Given the description of an element on the screen output the (x, y) to click on. 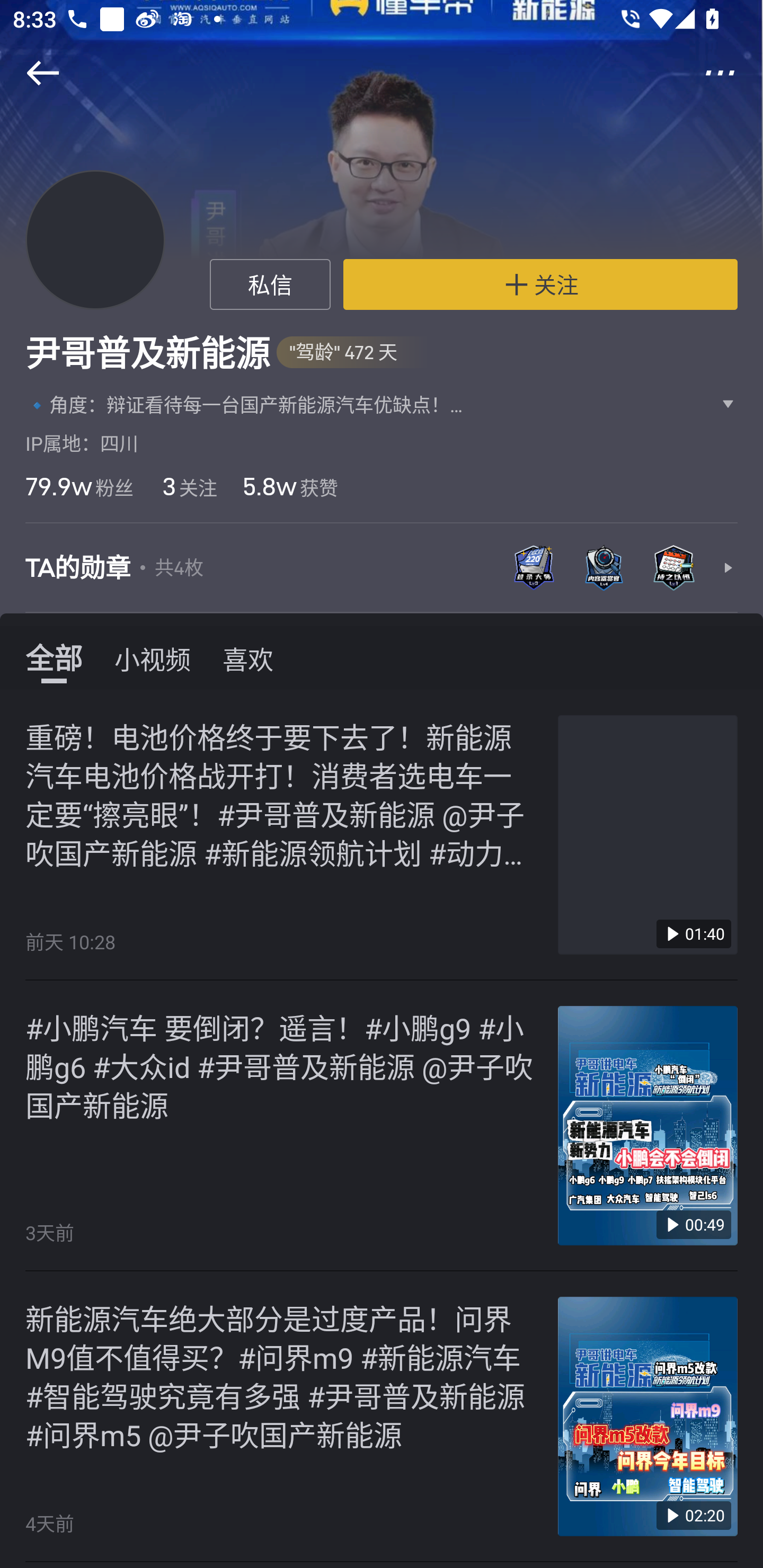
 (30, 72)
 (732, 72)
私信 (269, 284)
 关注 (540, 284)
"驾龄" 472 天 (352, 352)
79.9w 粉丝 (79, 485)
3 关注 (187, 485)
5.8w 获赞 (290, 485)
TA的勋章 共4枚  (381, 568)
全部 (53, 657)
小视频 (152, 657)
喜欢 (247, 657)
#小鹏汽车 要倒闭？遥言！#小鹏g9 #小鹏g6 #大众id #尹哥普及新能源 @尹子吹国产新能源 (281, 1065)
